Given the description of an element on the screen output the (x, y) to click on. 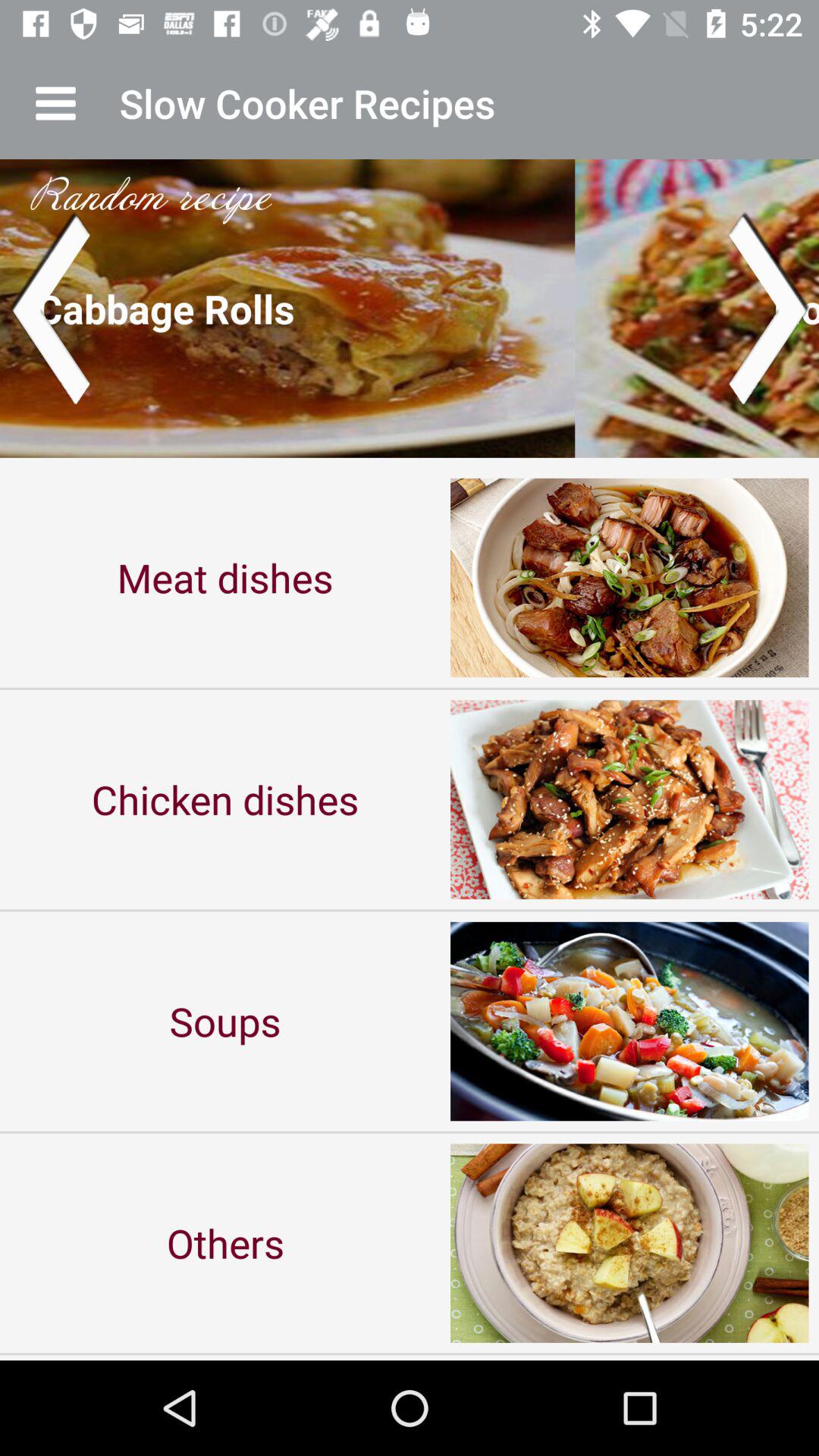
press icon above others icon (225, 1020)
